Given the description of an element on the screen output the (x, y) to click on. 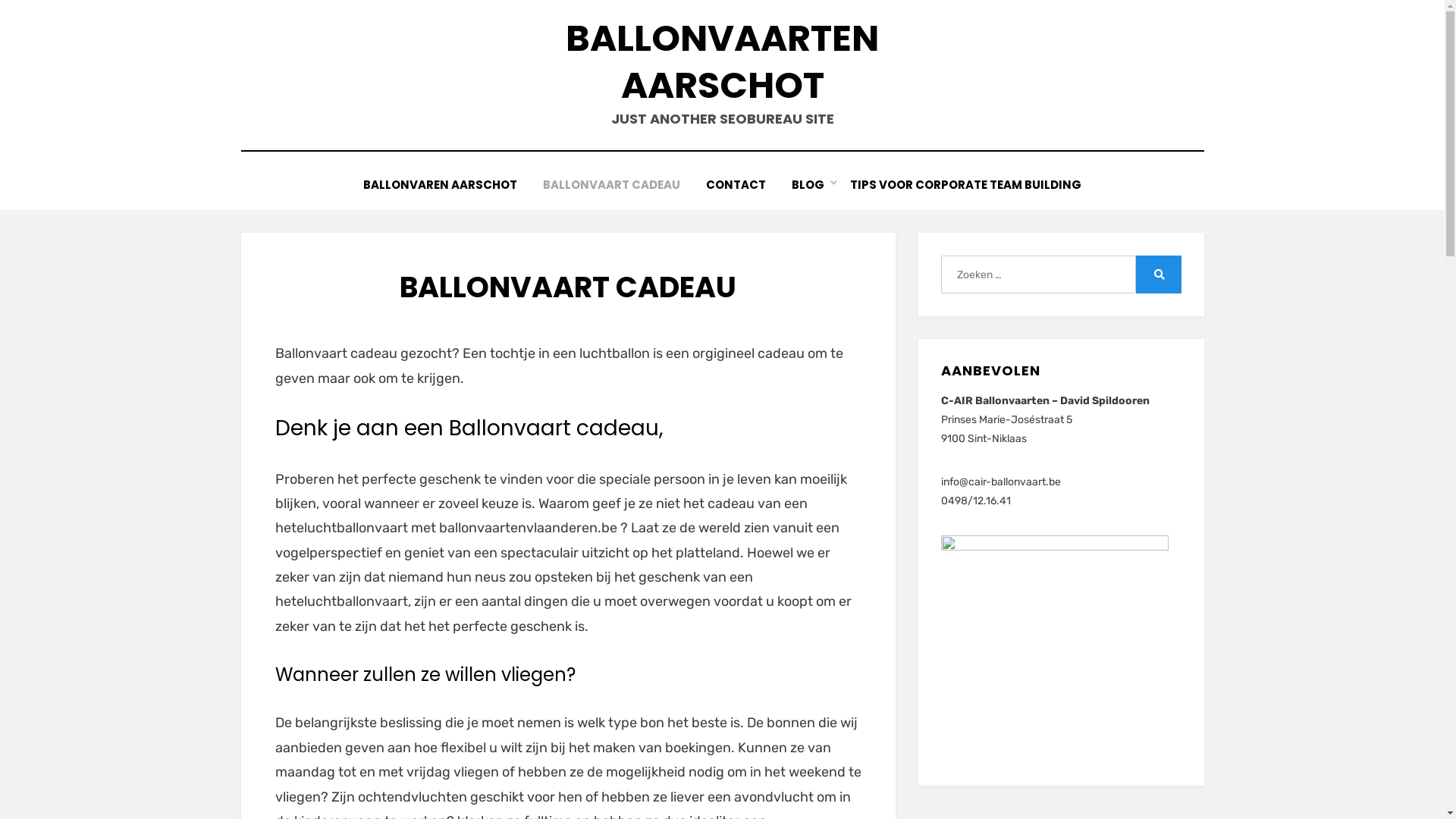
0498/12.16.41 Element type: text (975, 500)
BALLONVAREN AARSCHOT Element type: text (440, 184)
BALLONVAART CADEAU Element type: text (611, 184)
info@cair-ballonvaart.be Element type: text (1000, 481)
BLOG Element type: text (807, 184)
Zoeken naar: Element type: hover (1038, 274)
Zoeken Element type: text (1158, 274)
BALLONVAARTEN AARSCHOT Element type: text (721, 61)
CONTACT Element type: text (735, 184)
TIPS VOOR CORPORATE TEAM BUILDING Element type: text (965, 184)
